Given the description of an element on the screen output the (x, y) to click on. 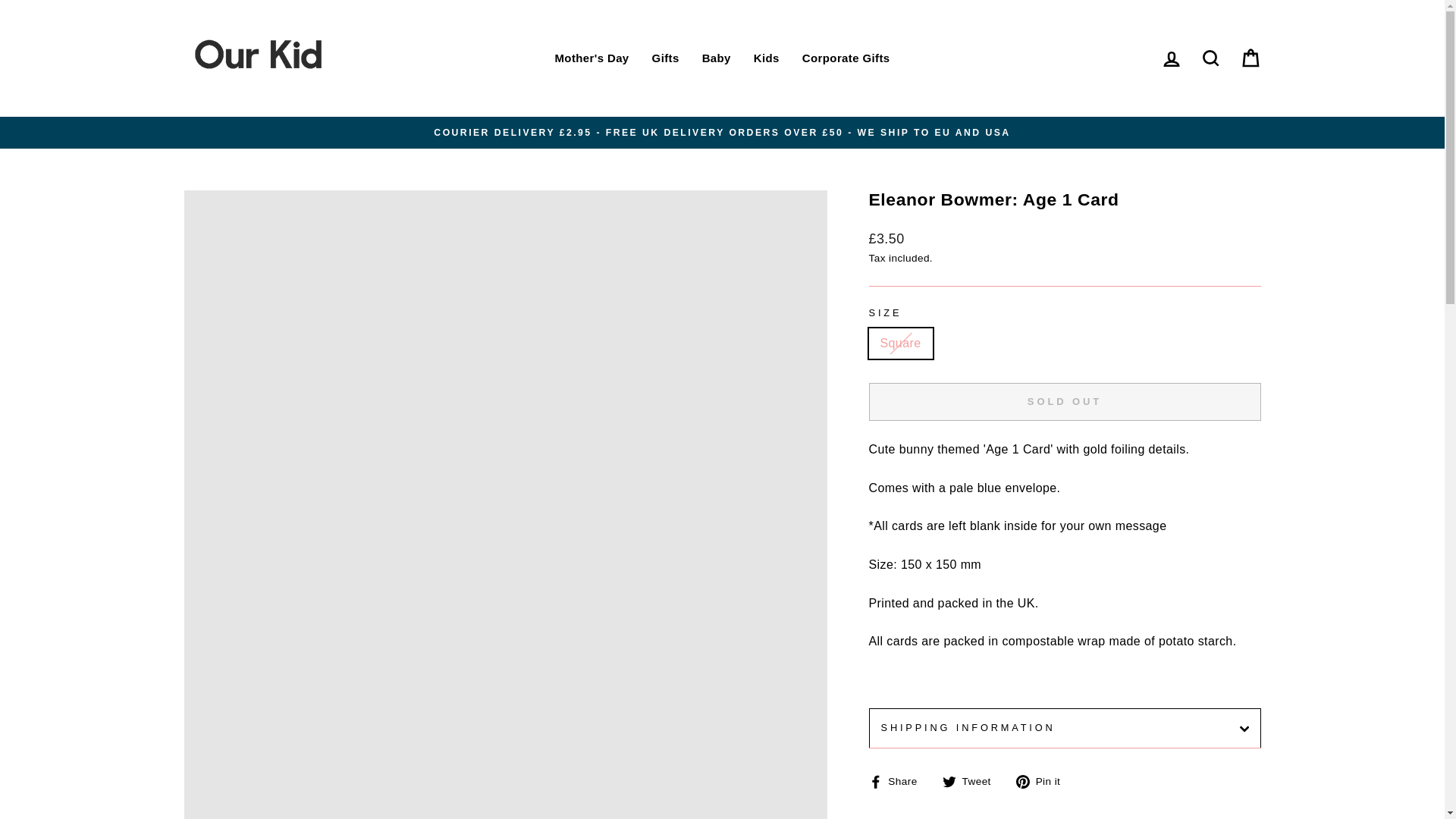
Share on Facebook (898, 781)
Pin on Pinterest (1043, 781)
Tweet on Twitter (972, 781)
